Given the description of an element on the screen output the (x, y) to click on. 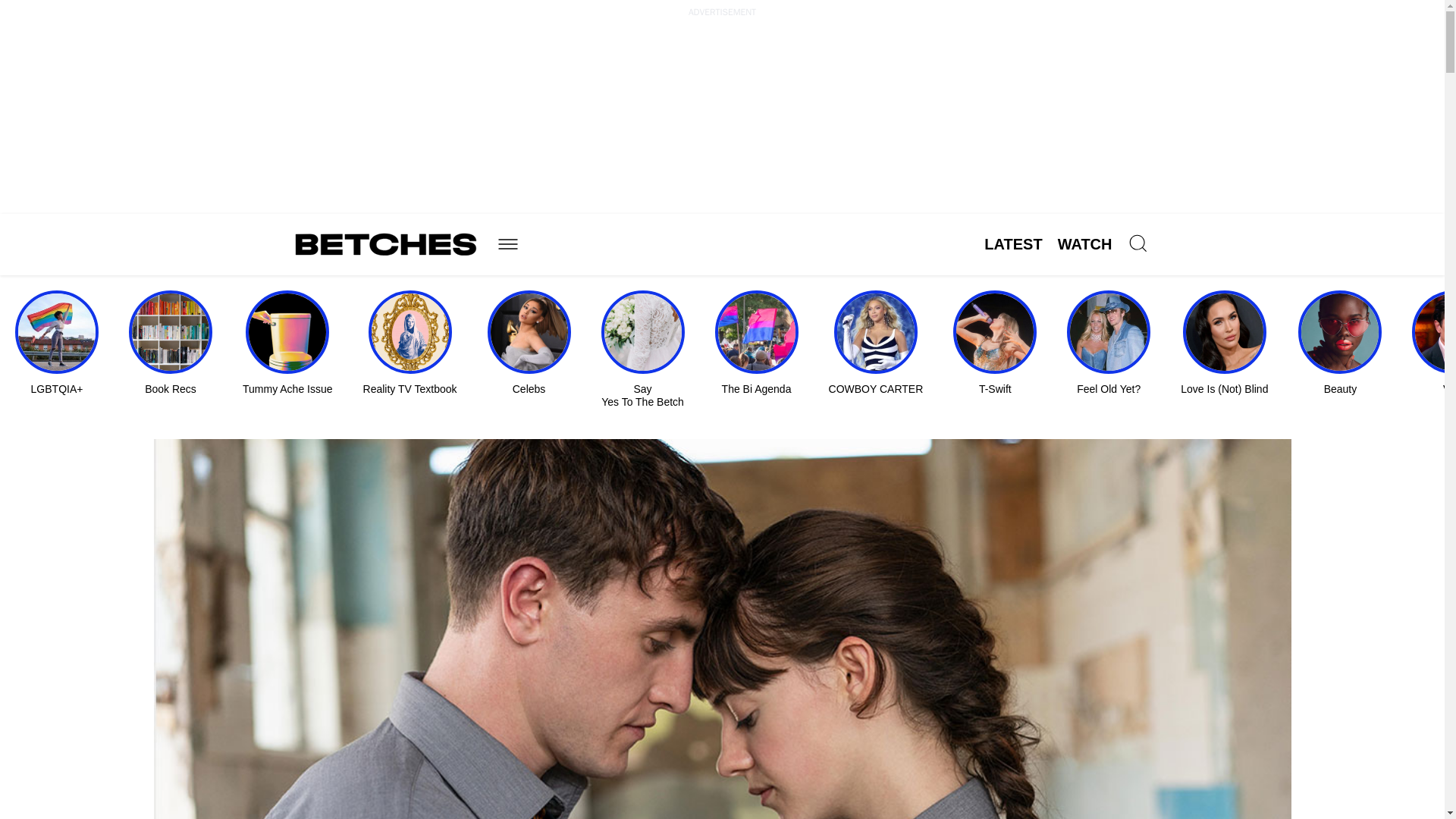
LATEST (1013, 244)
Reality TV Textbook (409, 342)
WATCH (1085, 244)
